Given the description of an element on the screen output the (x, y) to click on. 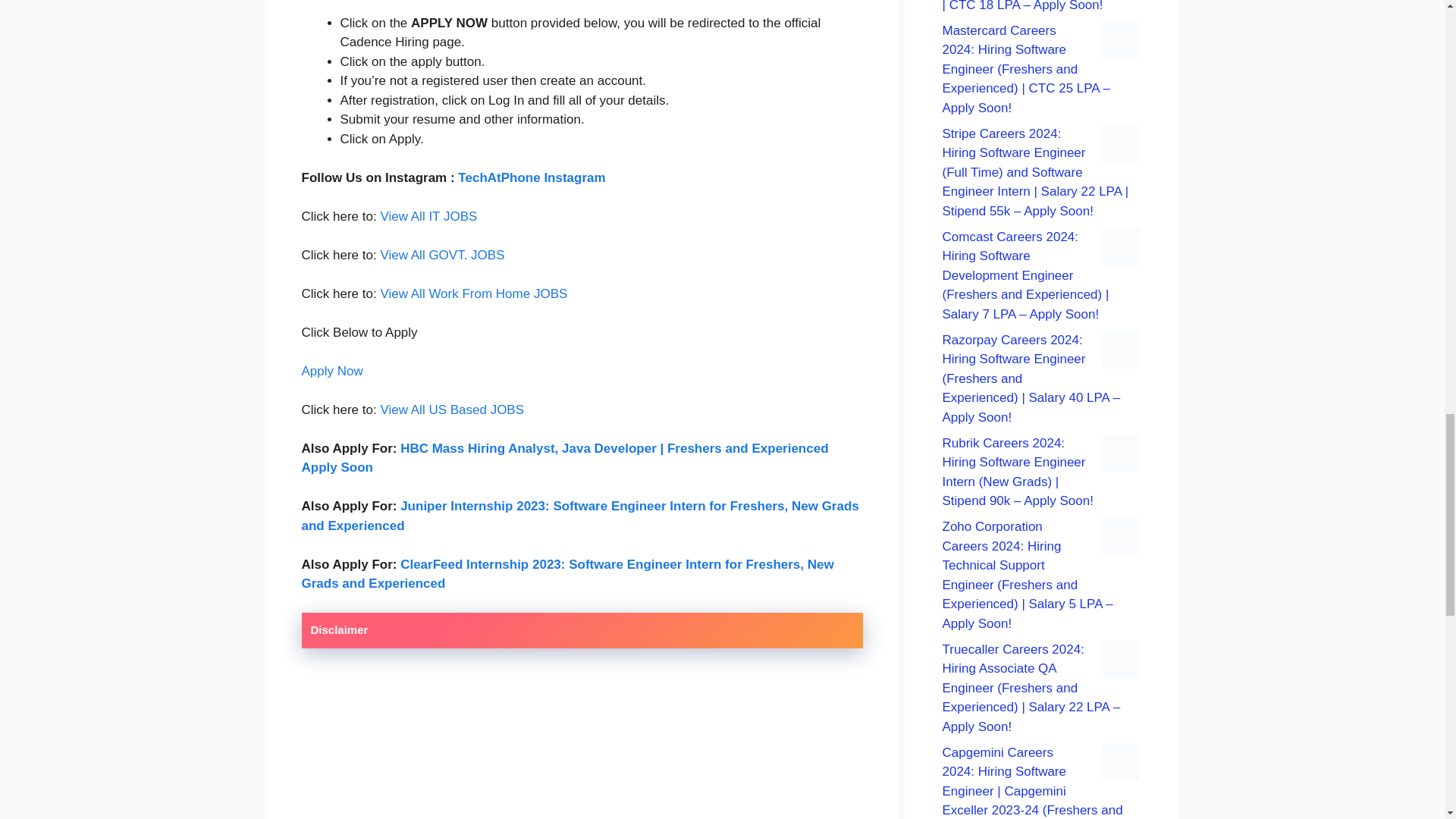
View All IT JOBS (428, 216)
View All Work From Home JOBS (473, 293)
TechAtPhone Instagram (531, 176)
View All US Based JOBS (452, 409)
Apply Now (331, 370)
View All GOVT. JOBS (441, 254)
